Given the description of an element on the screen output the (x, y) to click on. 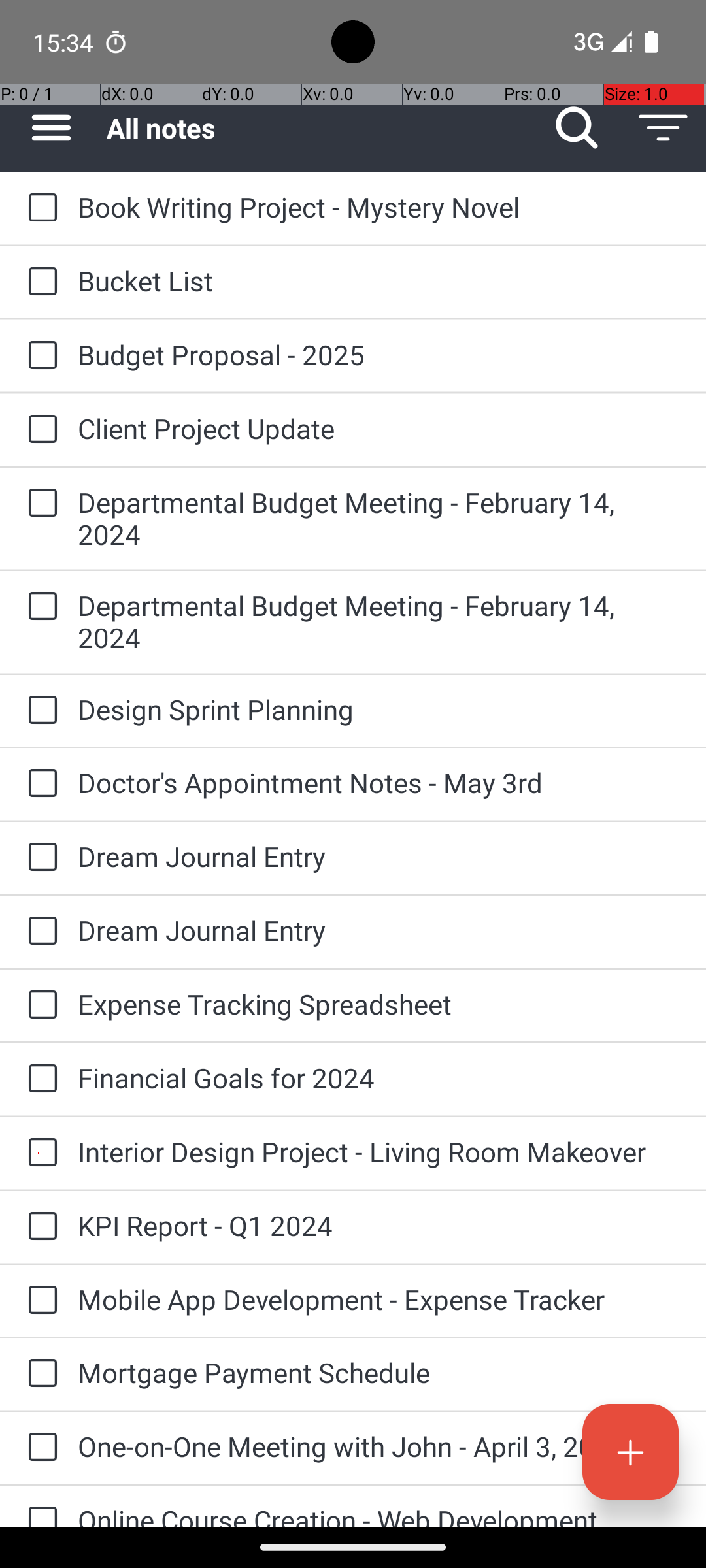
to-do: Book Writing Project - Mystery Novel Element type: android.widget.CheckBox (38, 208)
Book Writing Project - Mystery Novel Element type: android.widget.TextView (378, 206)
to-do: Bucket List Element type: android.widget.CheckBox (38, 282)
Bucket List Element type: android.widget.TextView (378, 280)
to-do: Budget Proposal - 2025 Element type: android.widget.CheckBox (38, 356)
Budget Proposal - 2025 Element type: android.widget.TextView (378, 354)
to-do: Client Project Update Element type: android.widget.CheckBox (38, 429)
Client Project Update Element type: android.widget.TextView (378, 427)
to-do: Departmental Budget Meeting - February 14, 2024 Element type: android.widget.CheckBox (38, 503)
Departmental Budget Meeting - February 14, 2024 Element type: android.widget.TextView (378, 517)
to-do: Doctor's Appointment Notes - May 3rd Element type: android.widget.CheckBox (38, 783)
Doctor's Appointment Notes - May 3rd Element type: android.widget.TextView (378, 781)
to-do: Dream Journal Entry Element type: android.widget.CheckBox (38, 857)
Dream Journal Entry Element type: android.widget.TextView (378, 855)
to-do: Expense Tracking Spreadsheet Element type: android.widget.CheckBox (38, 1005)
Expense Tracking Spreadsheet Element type: android.widget.TextView (378, 1003)
to-do: Financial Goals for 2024 Element type: android.widget.CheckBox (38, 1079)
Financial Goals for 2024 Element type: android.widget.TextView (378, 1077)
to-do: Interior Design Project - Living Room Makeover Element type: android.widget.CheckBox (38, 1153)
Interior Design Project - Living Room Makeover Element type: android.widget.TextView (378, 1151)
to-do: KPI Report - Q1 2024 Element type: android.widget.CheckBox (38, 1226)
KPI Report - Q1 2024 Element type: android.widget.TextView (378, 1224)
to-do: Mobile App Development - Expense Tracker Element type: android.widget.CheckBox (38, 1300)
Mobile App Development - Expense Tracker Element type: android.widget.TextView (378, 1298)
to-do: Mortgage Payment Schedule Element type: android.widget.CheckBox (38, 1373)
Mortgage Payment Schedule Element type: android.widget.TextView (378, 1371)
to-do: One-on-One Meeting with John - April 3, 2024 Element type: android.widget.CheckBox (38, 1447)
One-on-One Meeting with John - April 3, 2024 Element type: android.widget.TextView (378, 1445)
